Given the description of an element on the screen output the (x, y) to click on. 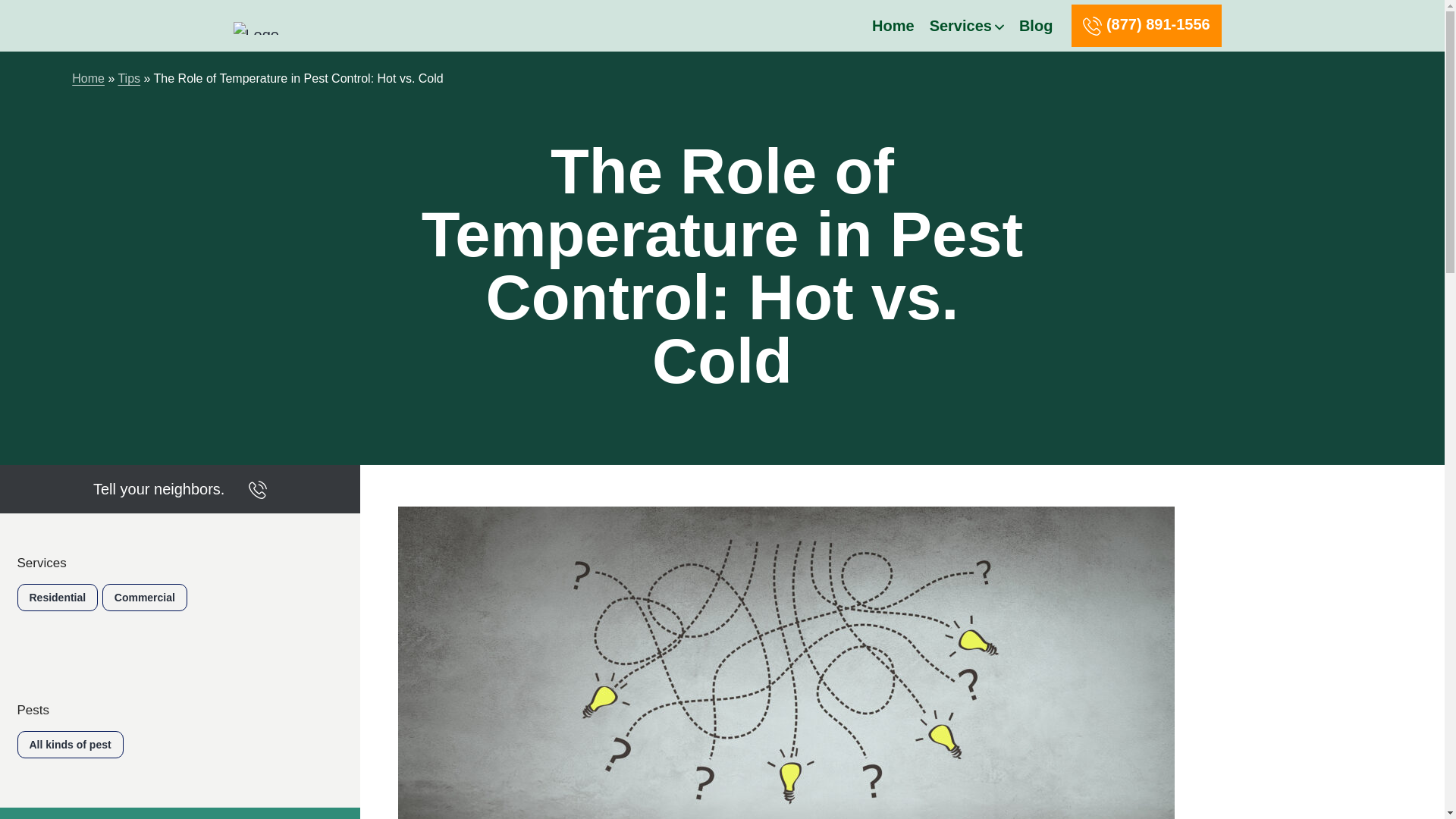
Services (962, 25)
Blog (1035, 25)
Home (87, 78)
Commercial (144, 596)
Residential (56, 596)
All kinds of pest (69, 744)
Home (892, 25)
Tips (128, 78)
